Given the description of an element on the screen output the (x, y) to click on. 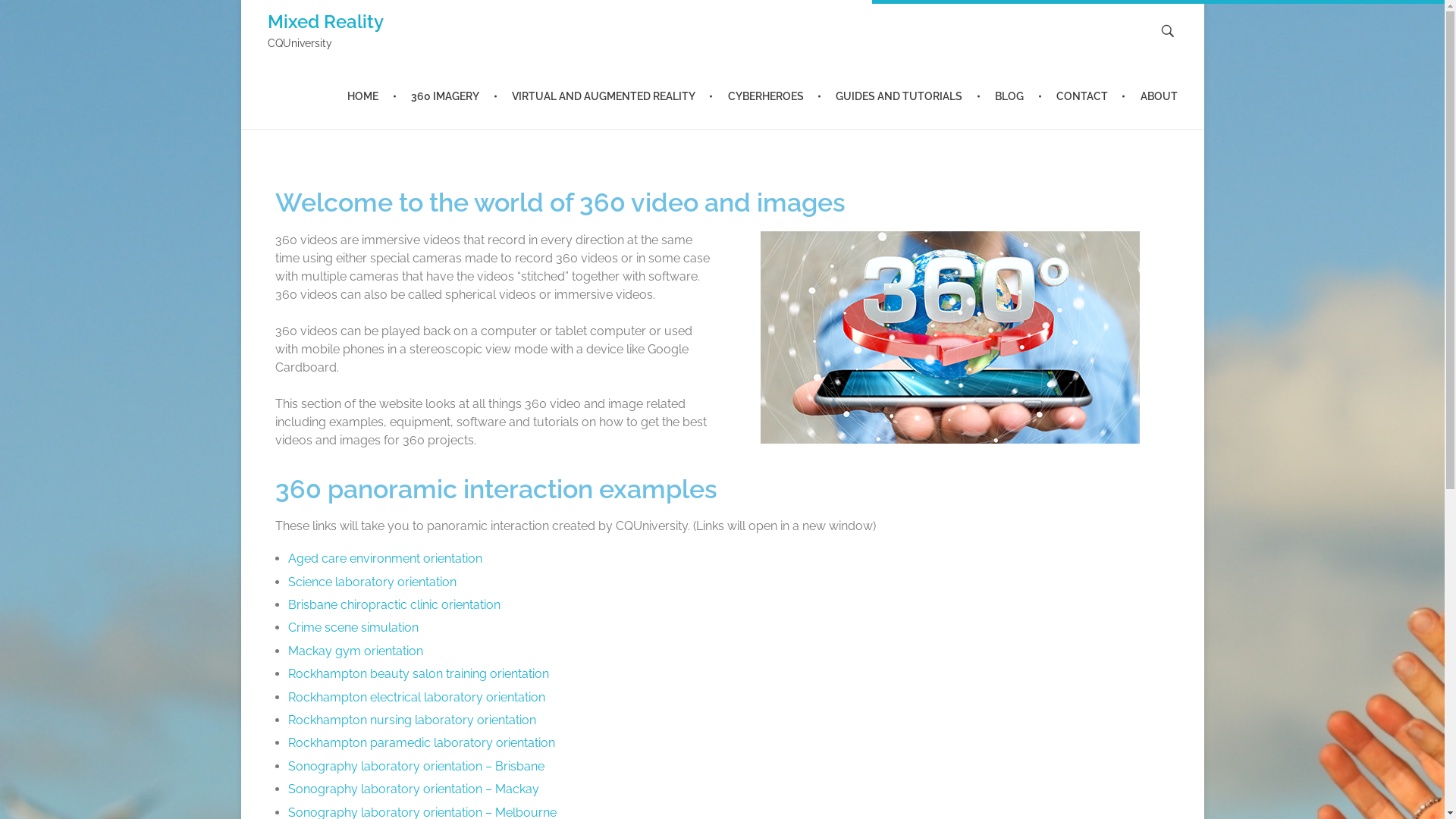
Mixed Reality Element type: text (324, 21)
Aged care environment orientation Element type: text (385, 558)
BLOG Element type: text (1011, 96)
Rockhampton nursing laboratory orientation Element type: text (412, 719)
VIRTUAL AND AUGMENTED REALITY Element type: text (605, 96)
ABOUT Element type: text (1151, 96)
Rockhampton electrical laboratory orientation Element type: text (416, 697)
Rockhampton beauty salon training orientation Element type: text (418, 673)
GUIDES AND TUTORIALS Element type: text (901, 96)
Science laboratory orientation Element type: text (372, 581)
CONTACT Element type: text (1083, 96)
Rockhampton paramedic laboratory orientation Element type: text (421, 742)
CYBERHEROES Element type: text (767, 96)
360 IMAGERY Element type: text (447, 96)
Crime scene simulation Element type: text (353, 627)
HOME Element type: text (371, 96)
Brisbane chiropractic clinic orientation Element type: text (394, 604)
Mackay gym orientation Element type: text (355, 650)
